Given the description of an element on the screen output the (x, y) to click on. 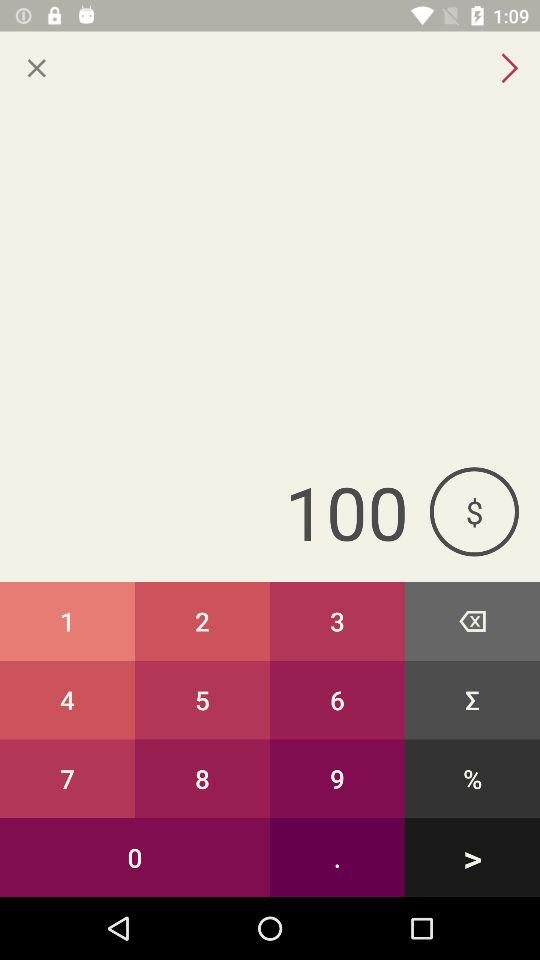
open item next to the 3 (472, 620)
